Given the description of an element on the screen output the (x, y) to click on. 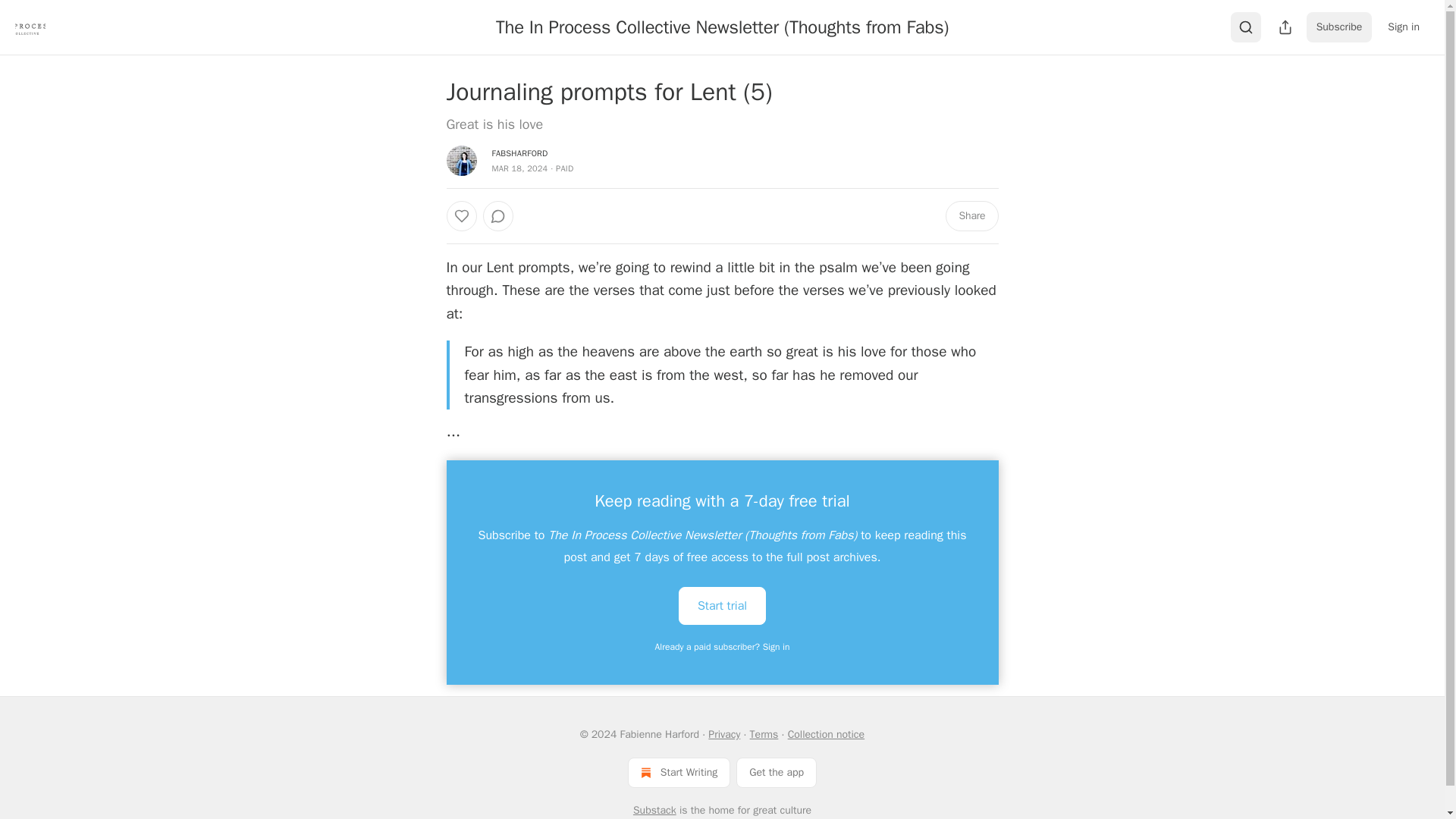
Subscribe (1339, 27)
Start trial (721, 605)
Terms (763, 734)
Already a paid subscriber? Sign in (722, 646)
Sign in (1403, 27)
Get the app (776, 772)
Substack (655, 809)
Share (970, 215)
Start Writing (678, 772)
FABSHARFORD (519, 153)
Collection notice (825, 734)
Start trial (721, 605)
Privacy (723, 734)
